Given the description of an element on the screen output the (x, y) to click on. 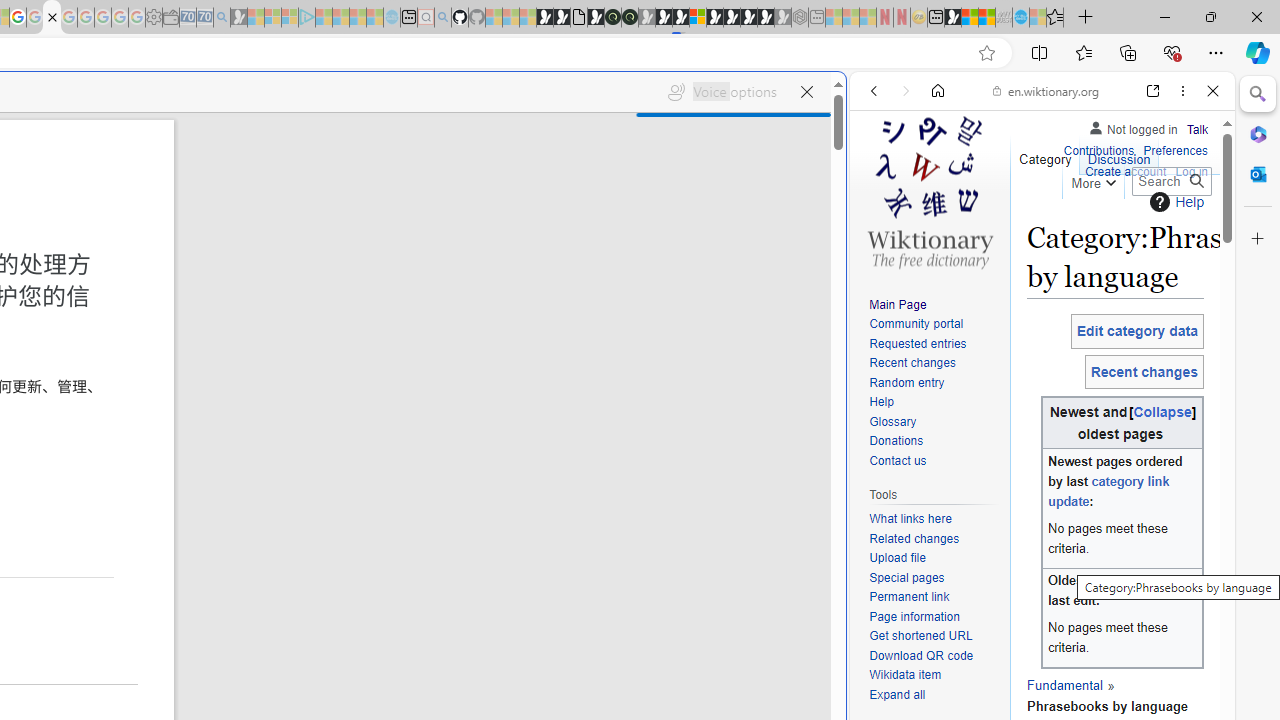
Recent changes (934, 363)
Page information (934, 616)
Close split screen (844, 102)
Main Page (897, 303)
Discussion (1118, 154)
